Given the description of an element on the screen output the (x, y) to click on. 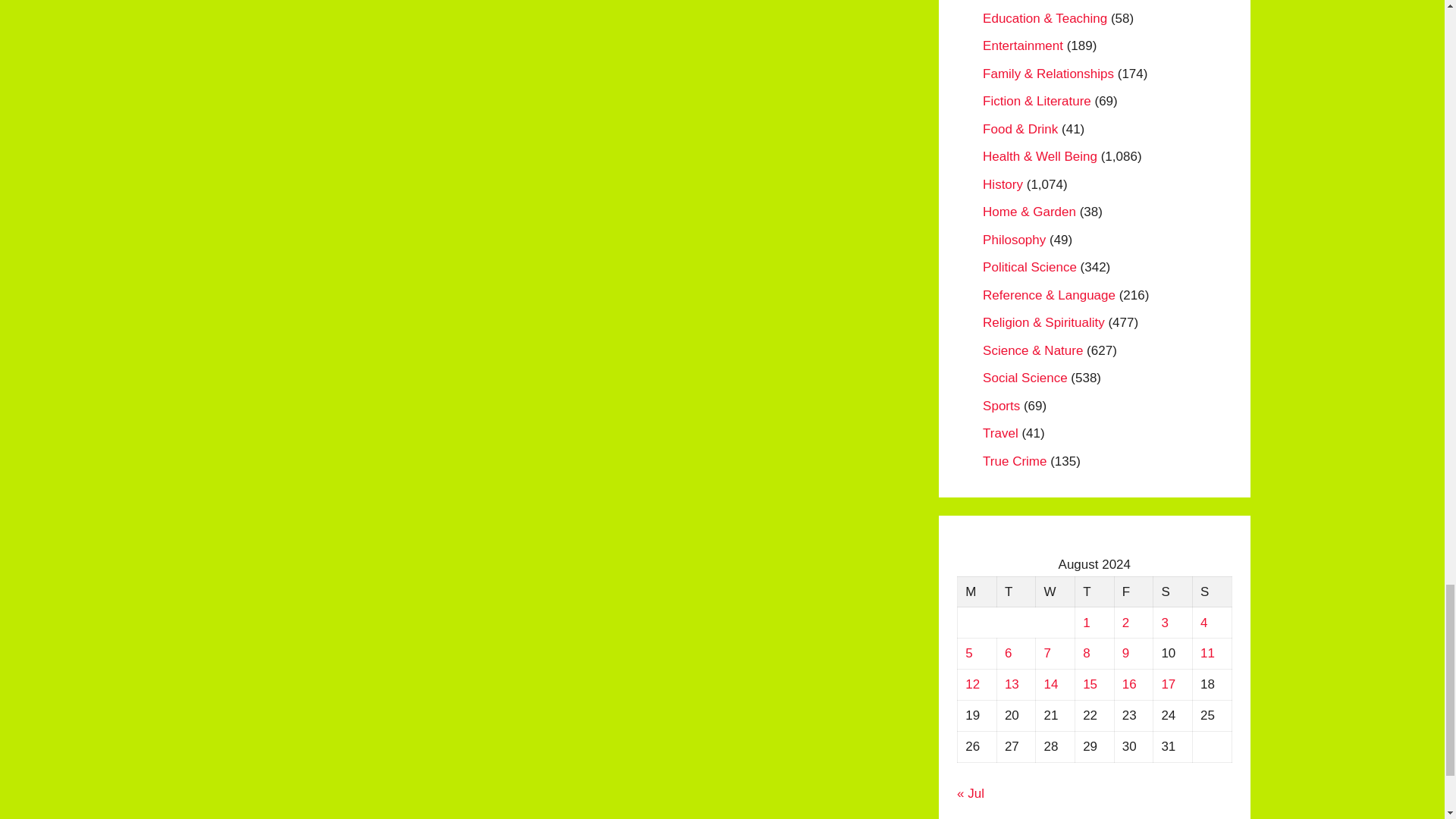
Thursday (1093, 591)
Saturday (1172, 591)
Wednesday (1055, 591)
Friday (1133, 591)
Tuesday (1015, 591)
Monday (977, 591)
Sunday (1211, 591)
